Given the description of an element on the screen output the (x, y) to click on. 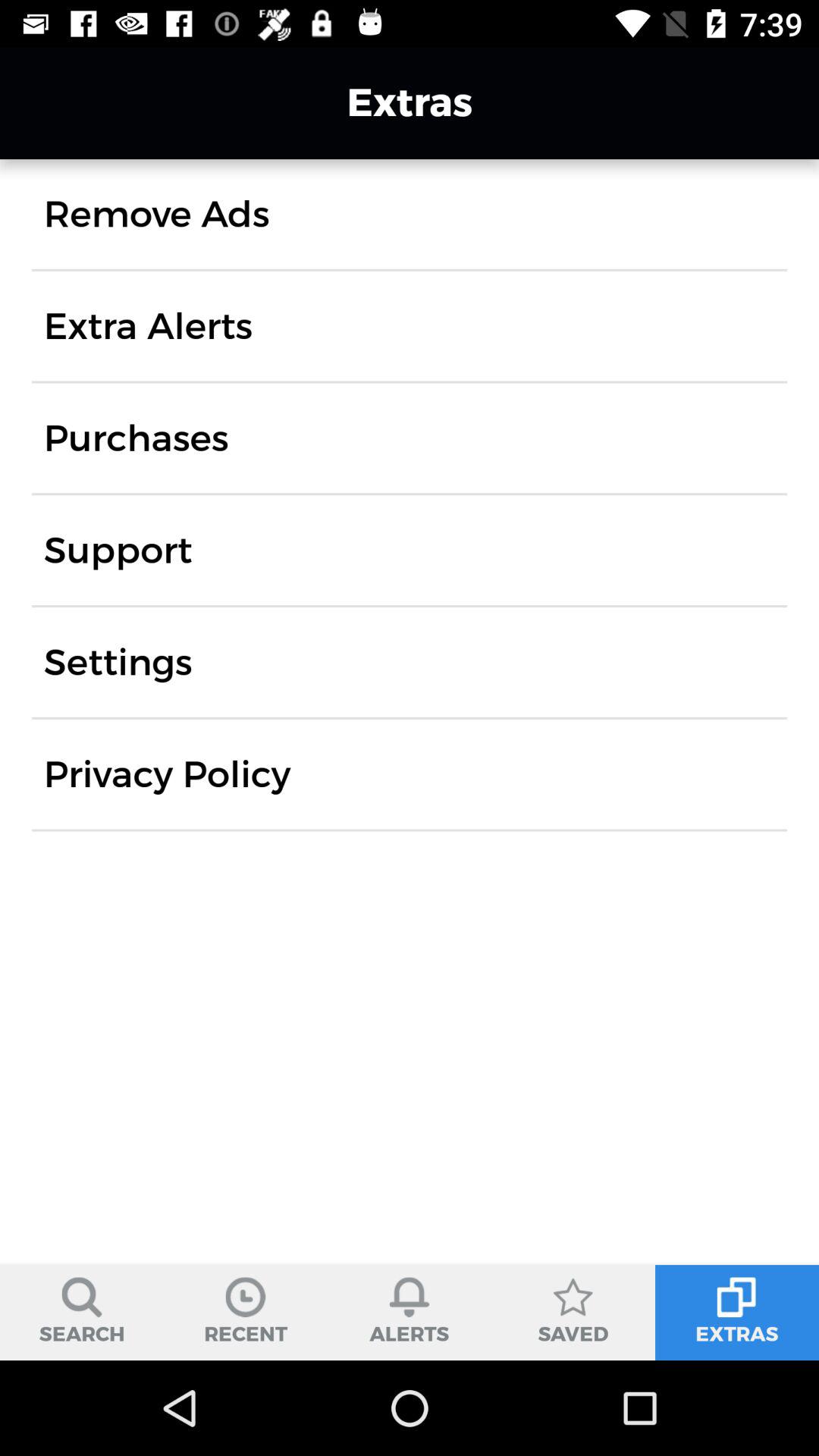
launch icon below extra alerts icon (135, 438)
